Given the description of an element on the screen output the (x, y) to click on. 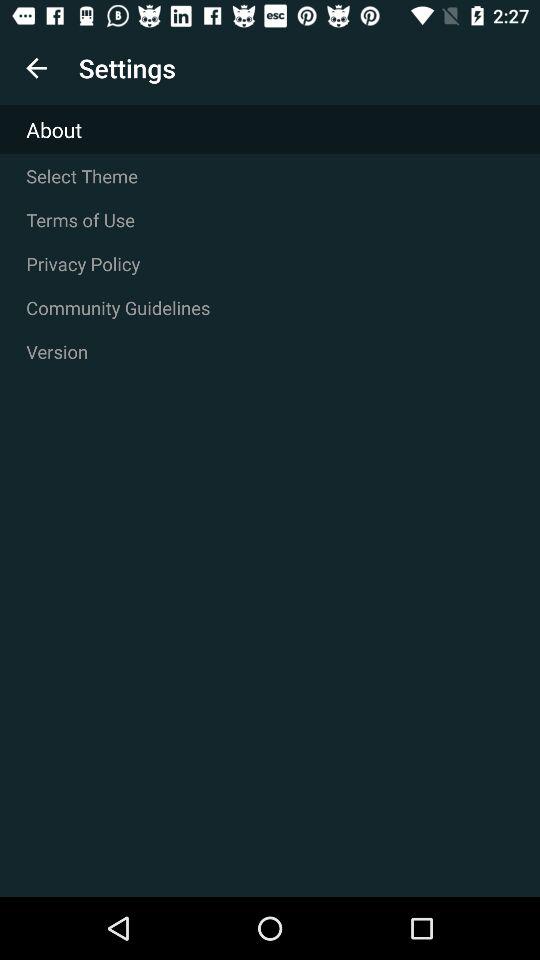
flip to community guidelines (270, 307)
